Given the description of an element on the screen output the (x, y) to click on. 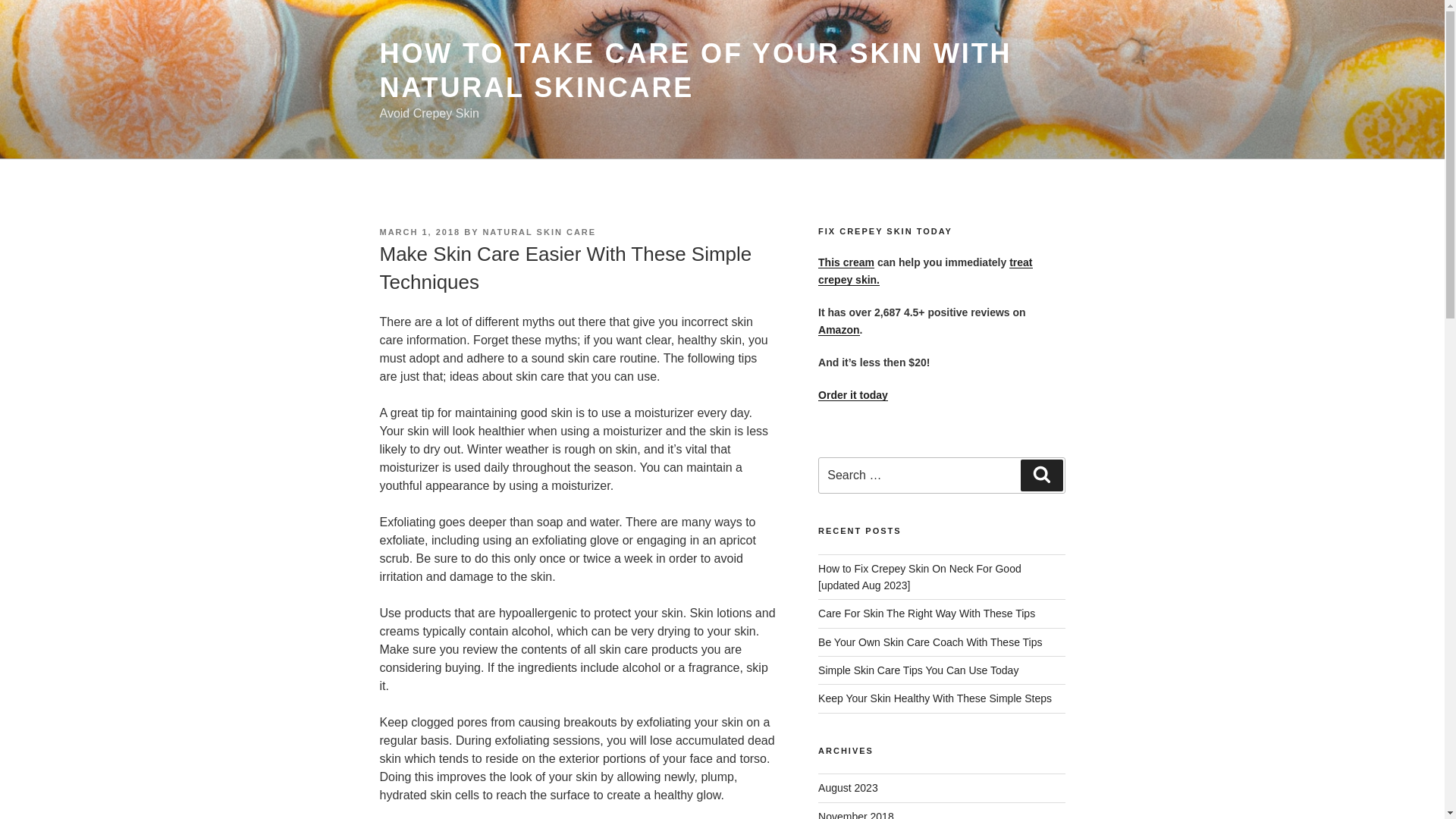
Amazon (922, 337)
Be Your Own Skin Care Coach With These Tips (930, 642)
Keep Your Skin Healthy With These Simple Steps (934, 698)
NATURAL SKIN CARE (538, 231)
treat crepey skin. (925, 270)
Search (1041, 475)
Simple Skin Care Tips You Can Use Today (917, 670)
Order it today (853, 395)
Care For Skin The Right Way With These Tips (926, 613)
MARCH 1, 2018 (419, 231)
November 2018 (855, 814)
August 2023 (847, 787)
HOW TO TAKE CARE OF YOUR SKIN WITH NATURAL SKINCARE (694, 70)
This cream (846, 262)
